Given the description of an element on the screen output the (x, y) to click on. 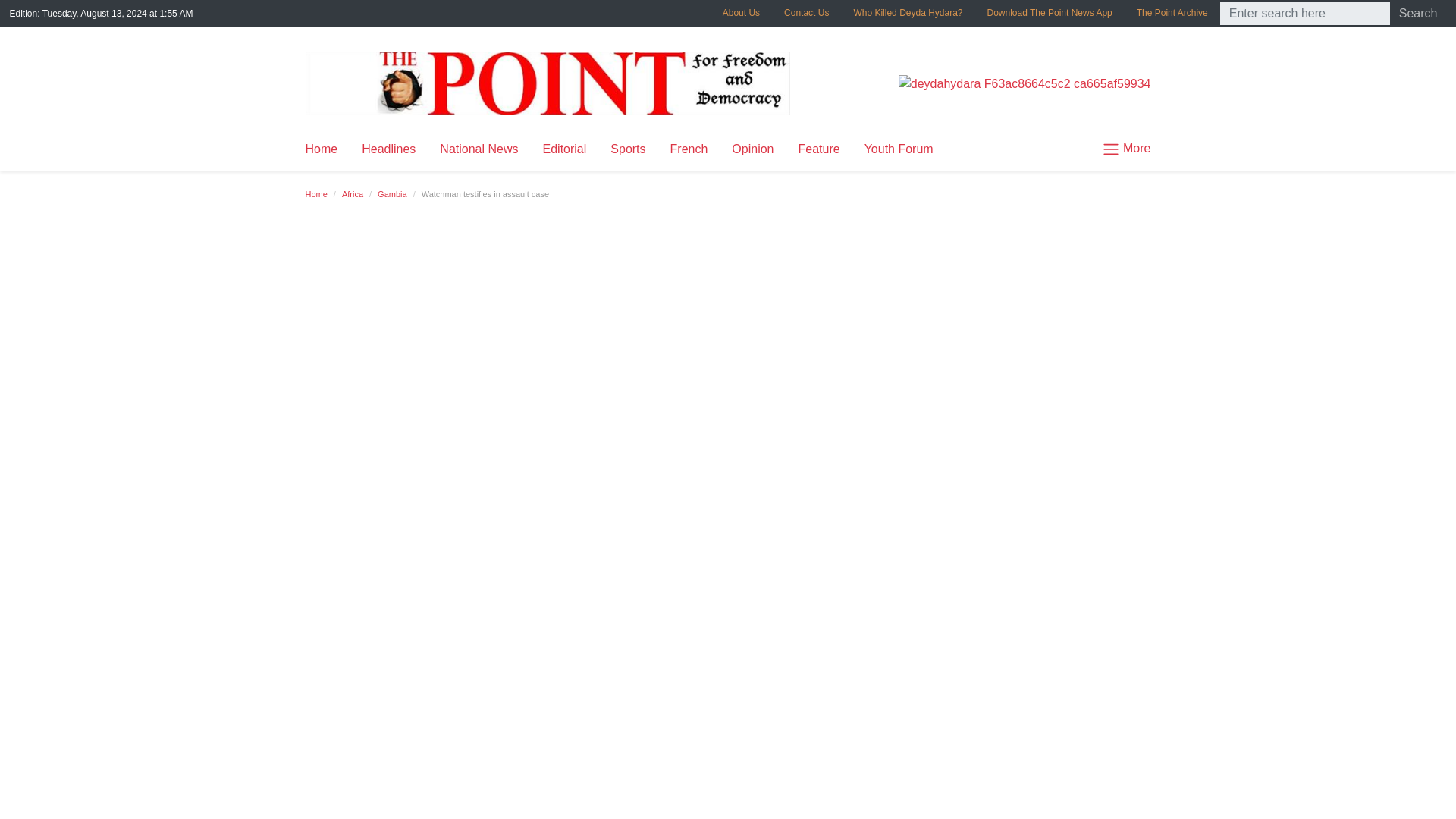
Download The Point News App (1049, 12)
More (1120, 148)
Who Killed Deyda Hydara? (907, 12)
Feature (818, 149)
National News (478, 149)
Contact Us (806, 12)
Home (315, 194)
Opinion (752, 149)
Search (1418, 13)
French (689, 149)
